Given the description of an element on the screen output the (x, y) to click on. 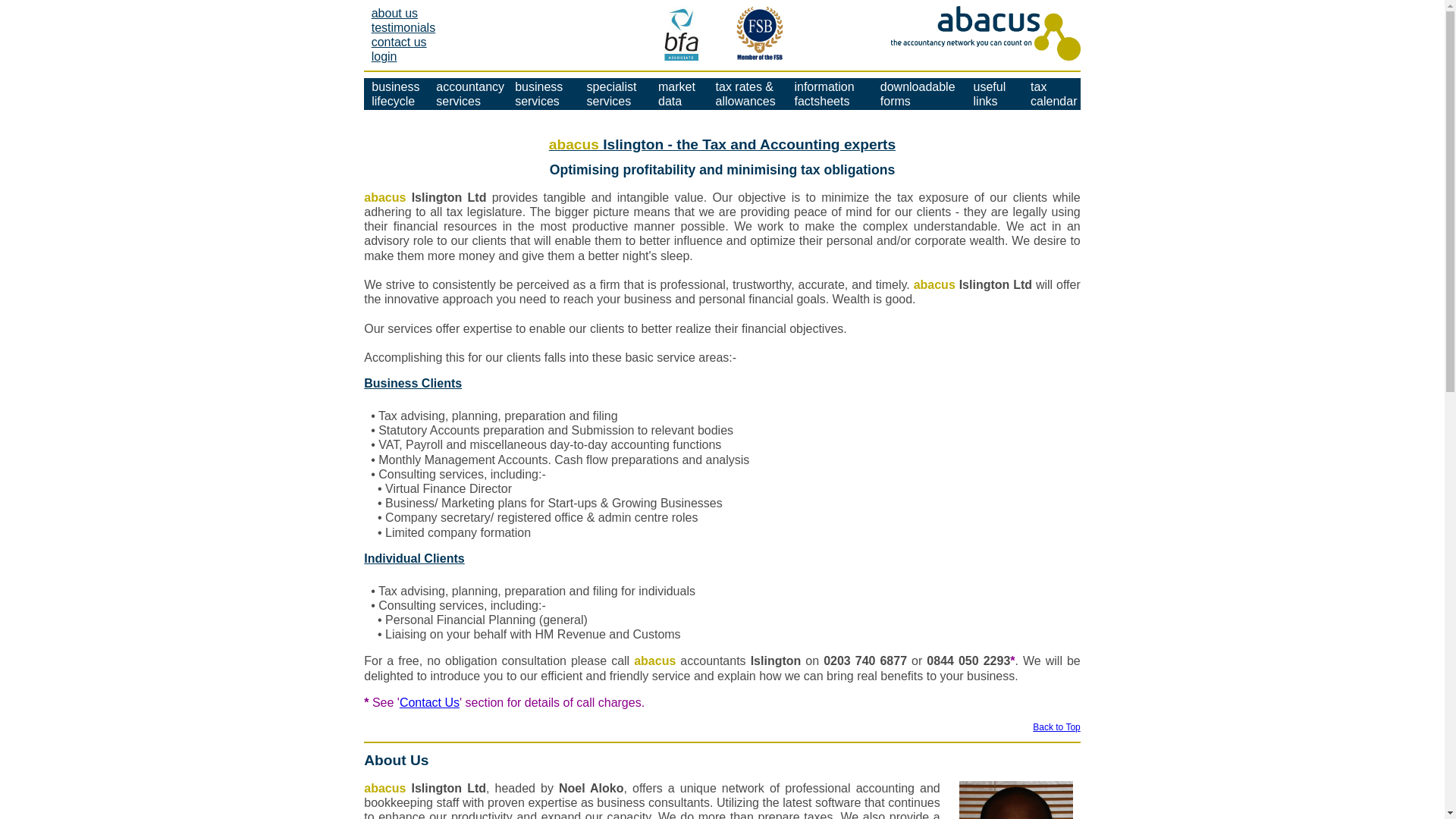
testimonials (614, 93)
contact us (467, 93)
about us (403, 27)
login (398, 42)
